Given the description of an element on the screen output the (x, y) to click on. 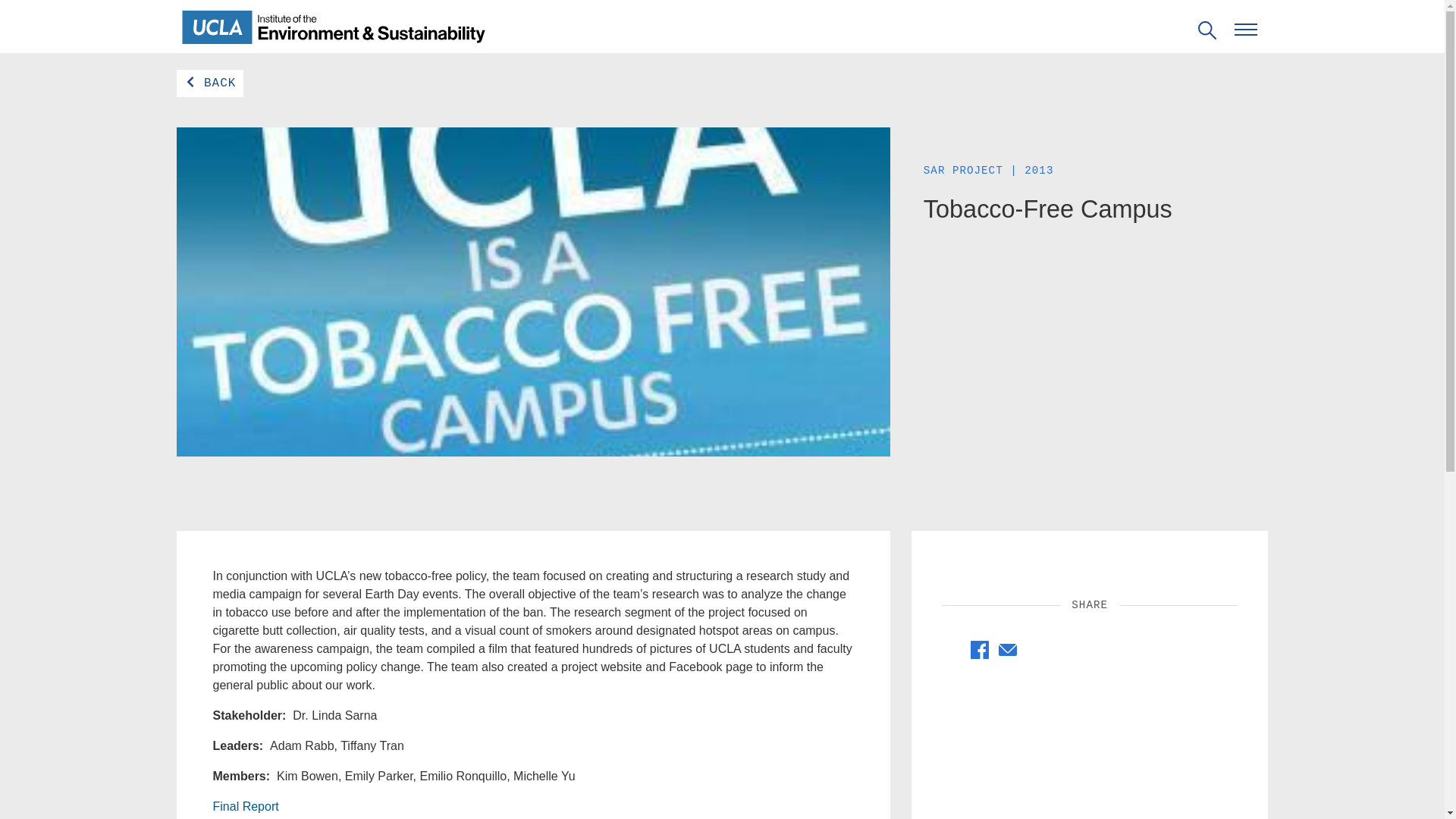
BACK (209, 83)
email (1007, 649)
Search (25, 9)
Tweet this article (954, 657)
Facebook (979, 649)
Email this article (979, 654)
Share on Facebook (1007, 654)
Final Report (979, 654)
X formally Twitter (245, 806)
